Given the description of an element on the screen output the (x, y) to click on. 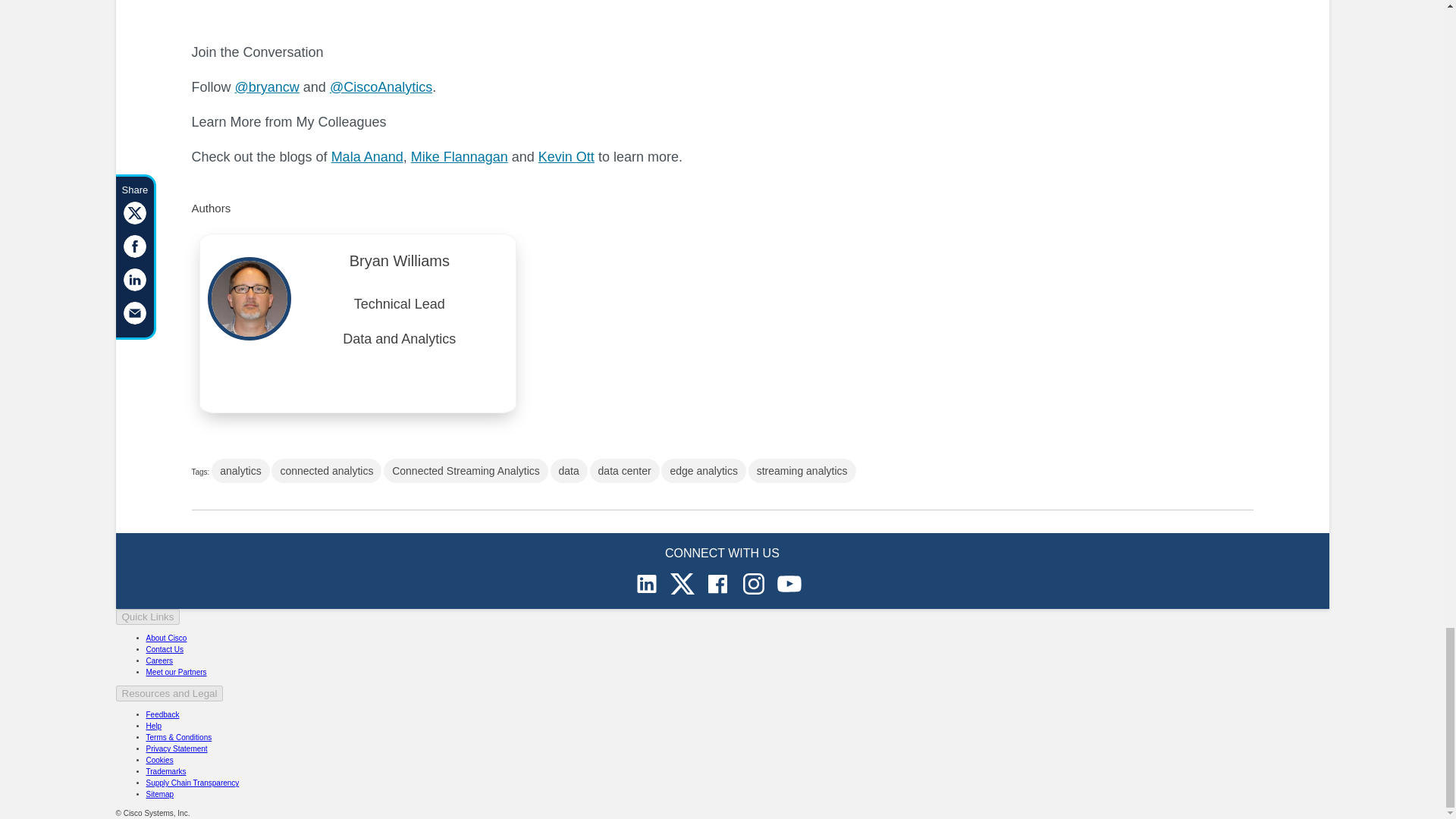
Kevin Ott (566, 156)
Mike Flannagan (459, 156)
data center (624, 470)
Connected Streaming Analytics (466, 470)
Mala Anand (367, 156)
streaming analytics (802, 470)
data (569, 470)
connected analytics (325, 470)
analytics (240, 470)
Bryan Williams (399, 264)
edge analytics (703, 470)
